Given the description of an element on the screen output the (x, y) to click on. 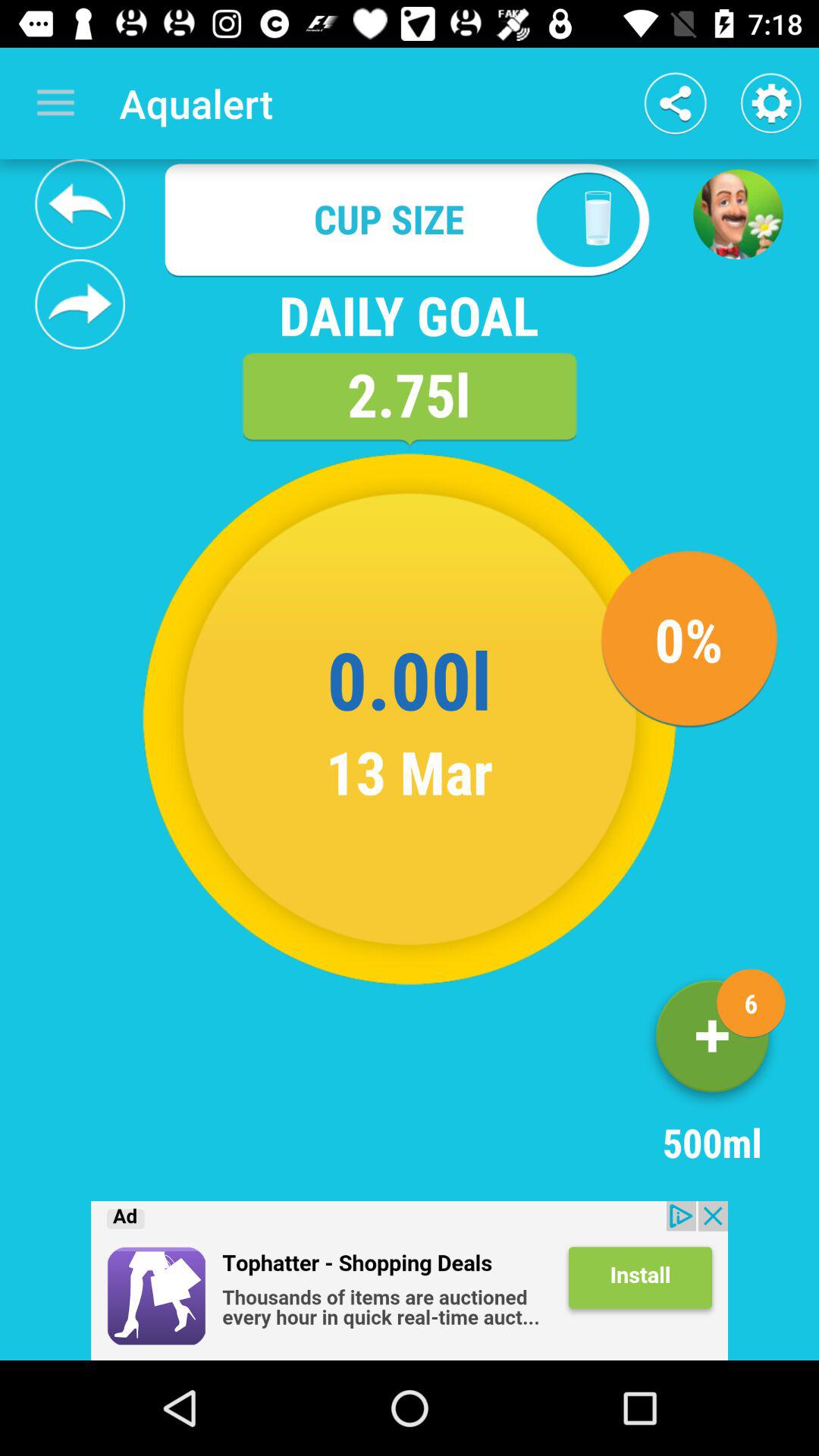
aqualert water intake tracker reminder google fit (80, 204)
